Given the description of an element on the screen output the (x, y) to click on. 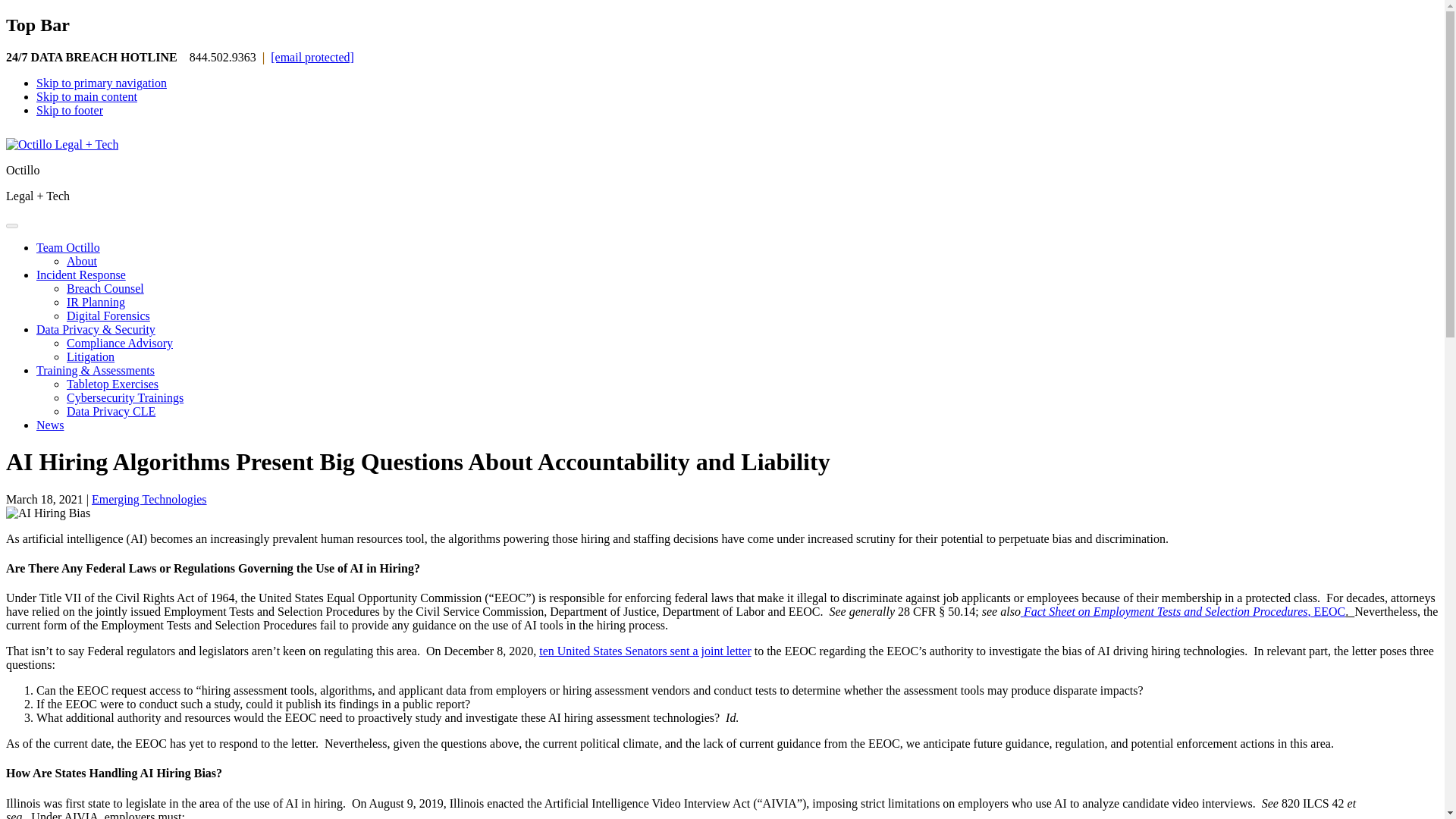
Incident Response (80, 274)
Team Octillo (68, 246)
Digital Forensics (107, 315)
Breach Counsel (105, 287)
IR Planning (95, 301)
Compliance Advisory (119, 342)
Data Privacy CLE (110, 410)
Skip to primary navigation (101, 82)
Cybersecurity Trainings (124, 397)
News (50, 424)
Skip to main content (86, 96)
Skip to footer (69, 110)
About (81, 260)
ten United States Senators sent a joint letter (644, 650)
